Given the description of an element on the screen output the (x, y) to click on. 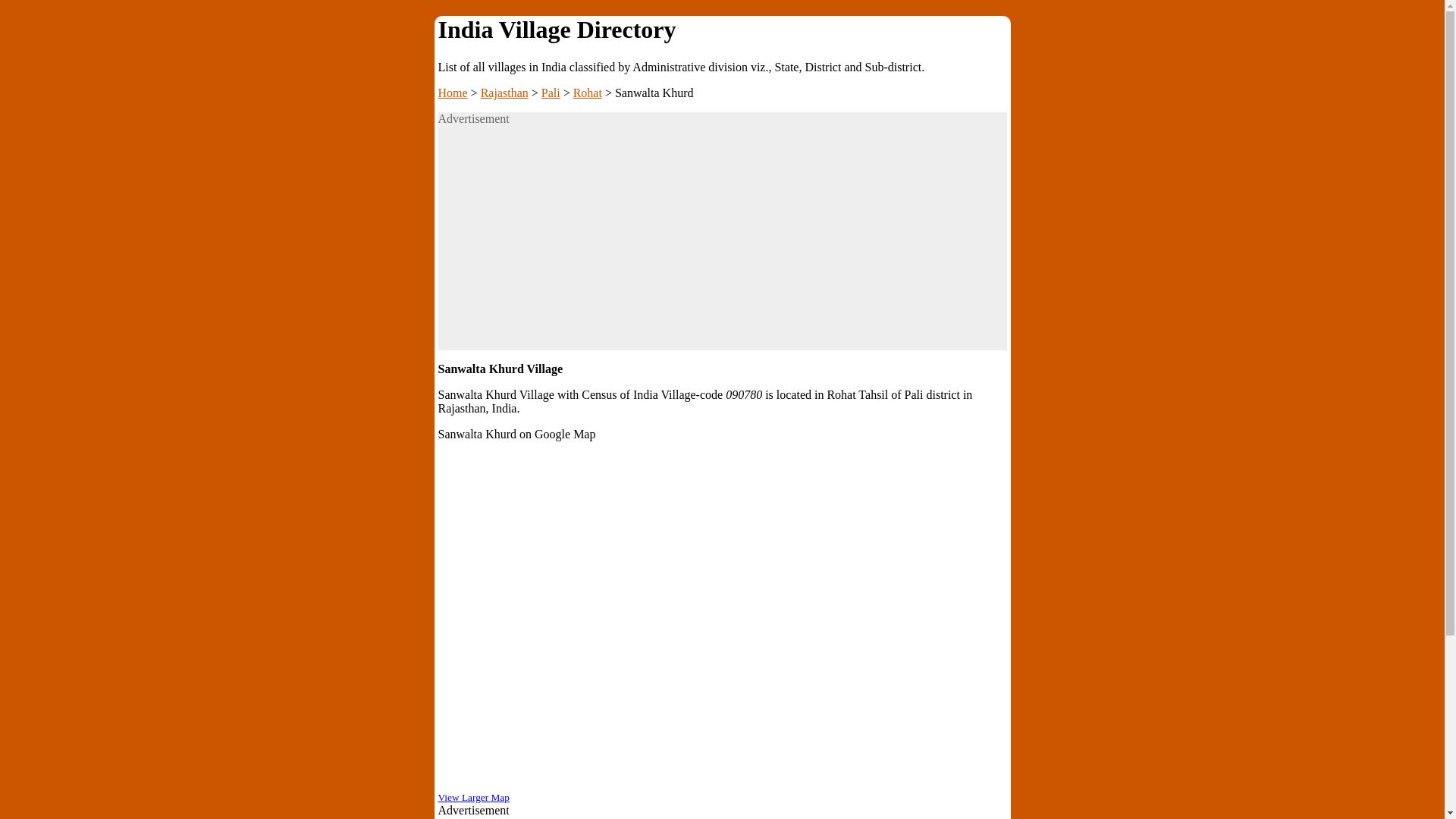
Rajasthan (504, 92)
VList homepage (452, 92)
District-wise list (550, 92)
Home (452, 92)
View Larger Map (473, 797)
State-wise list (504, 92)
Pali (550, 92)
